Given the description of an element on the screen output the (x, y) to click on. 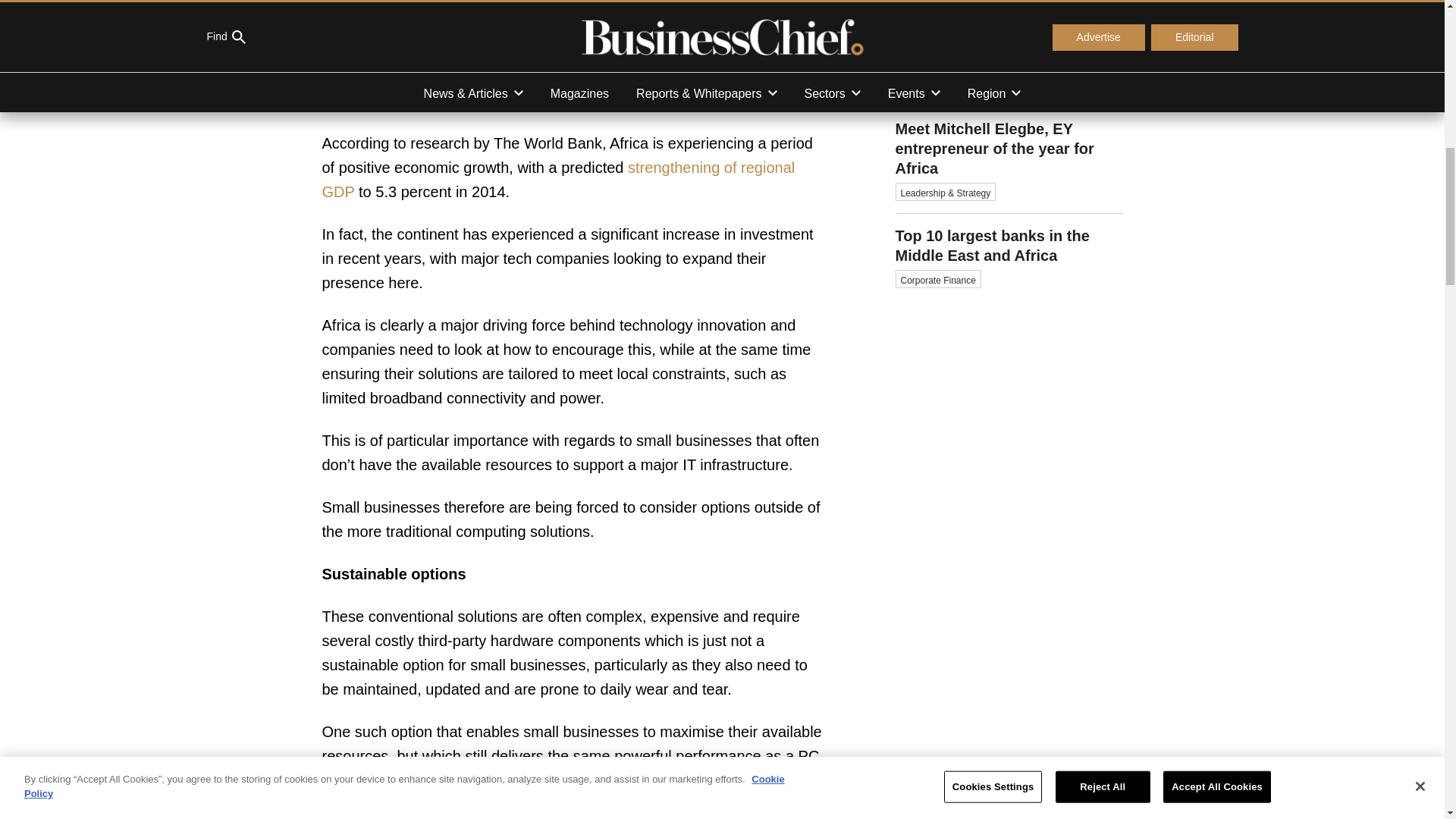
3rd party ad content (1008, 533)
